Given the description of an element on the screen output the (x, y) to click on. 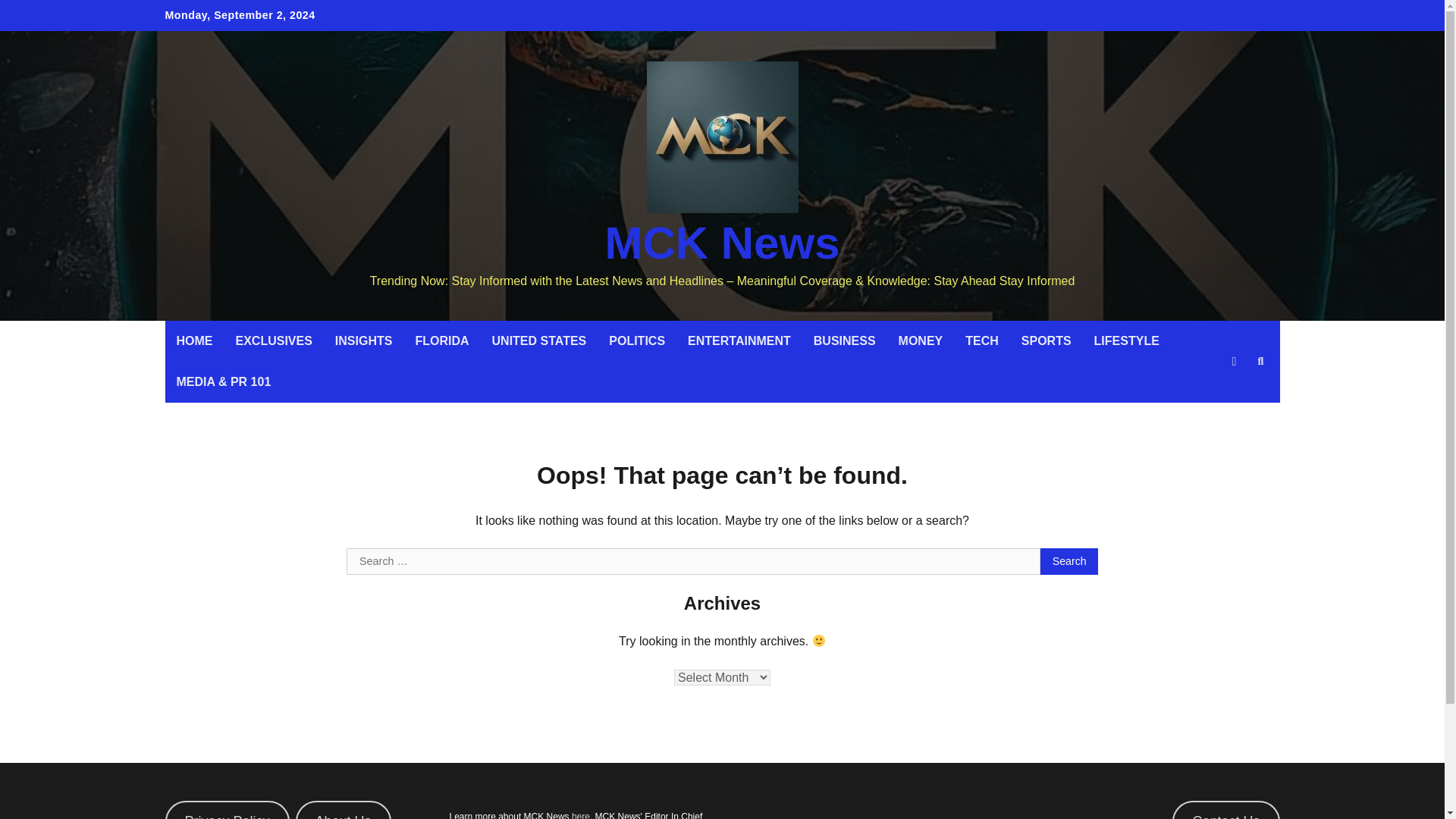
View Random Post (1233, 361)
MONEY (920, 341)
About Us (343, 809)
Search (1069, 561)
Privacy Policy (227, 809)
here (580, 815)
Search (1069, 561)
SPORTS (1046, 341)
Search (1069, 561)
Search (1232, 397)
